Given the description of an element on the screen output the (x, y) to click on. 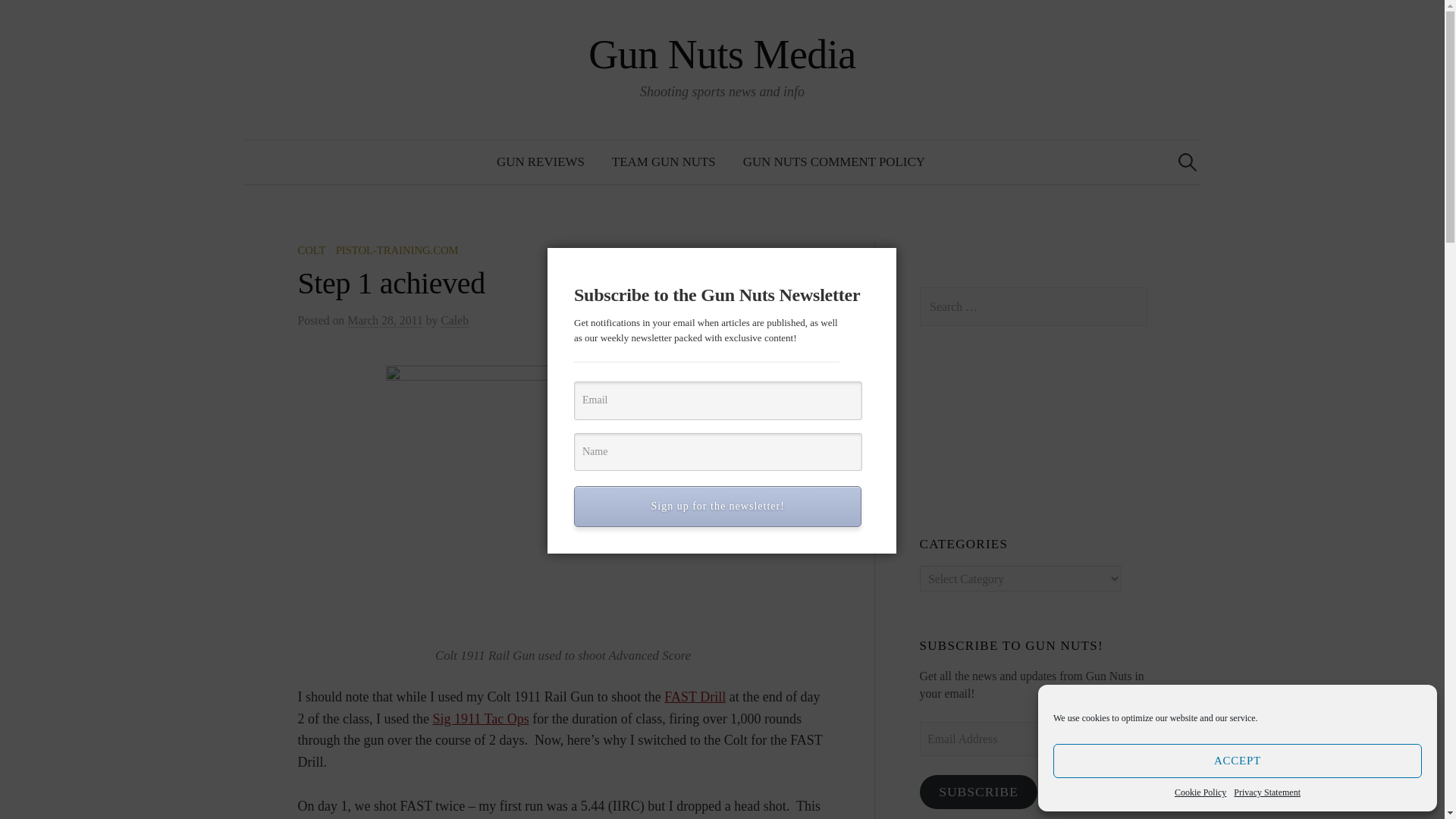
TEAM GUN NUTS (663, 162)
Sig 1911 Tac Ops (480, 718)
View all posts by Caleb (454, 320)
Gun Nuts Media (722, 53)
Name (717, 451)
March 28, 2011 (385, 320)
GUN NUTS COMMENT POLICY (834, 162)
Search (18, 18)
PISTOL-TRAINING.COM (397, 250)
Colt 1911 XSE with FAST pin (562, 499)
COLT (310, 250)
Email (717, 400)
Cookie Policy (1199, 792)
Privacy Statement (1266, 792)
Caleb (454, 320)
